Given the description of an element on the screen output the (x, y) to click on. 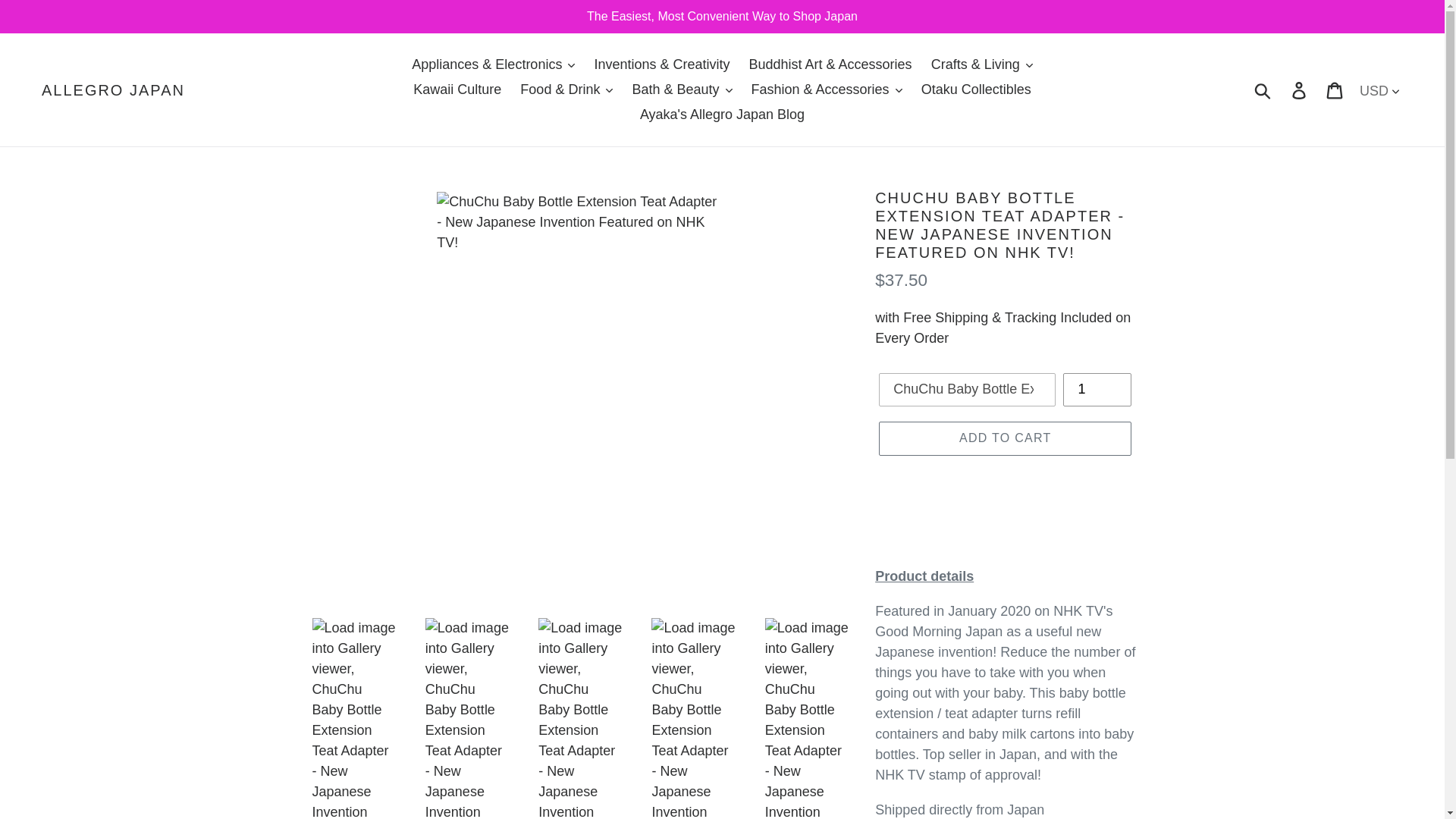
Kawaii Culture (457, 89)
ALLEGRO JAPAN (113, 89)
1 (1096, 389)
